Given the description of an element on the screen output the (x, y) to click on. 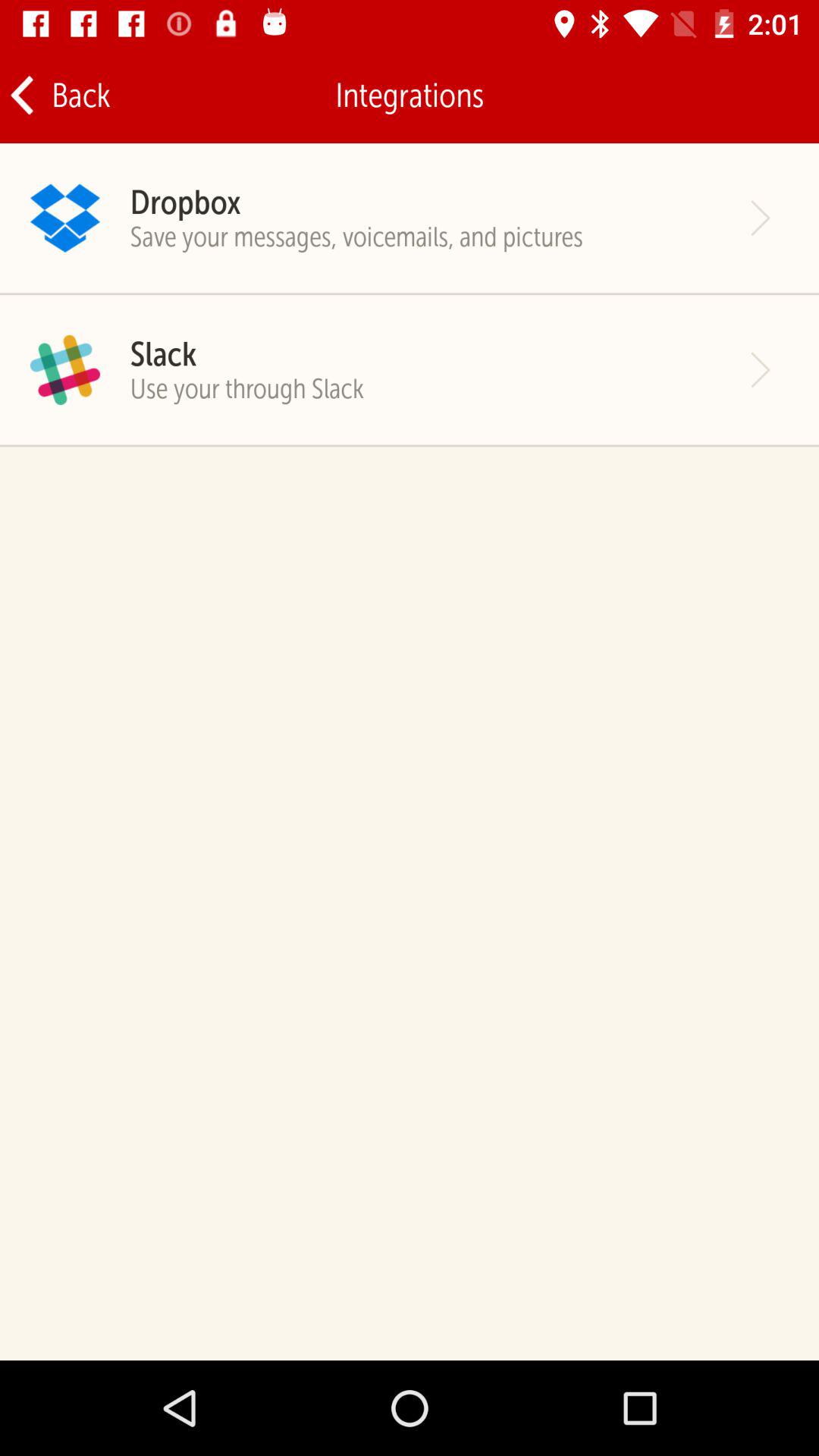
turn on the save your messages icon (356, 236)
